Given the description of an element on the screen output the (x, y) to click on. 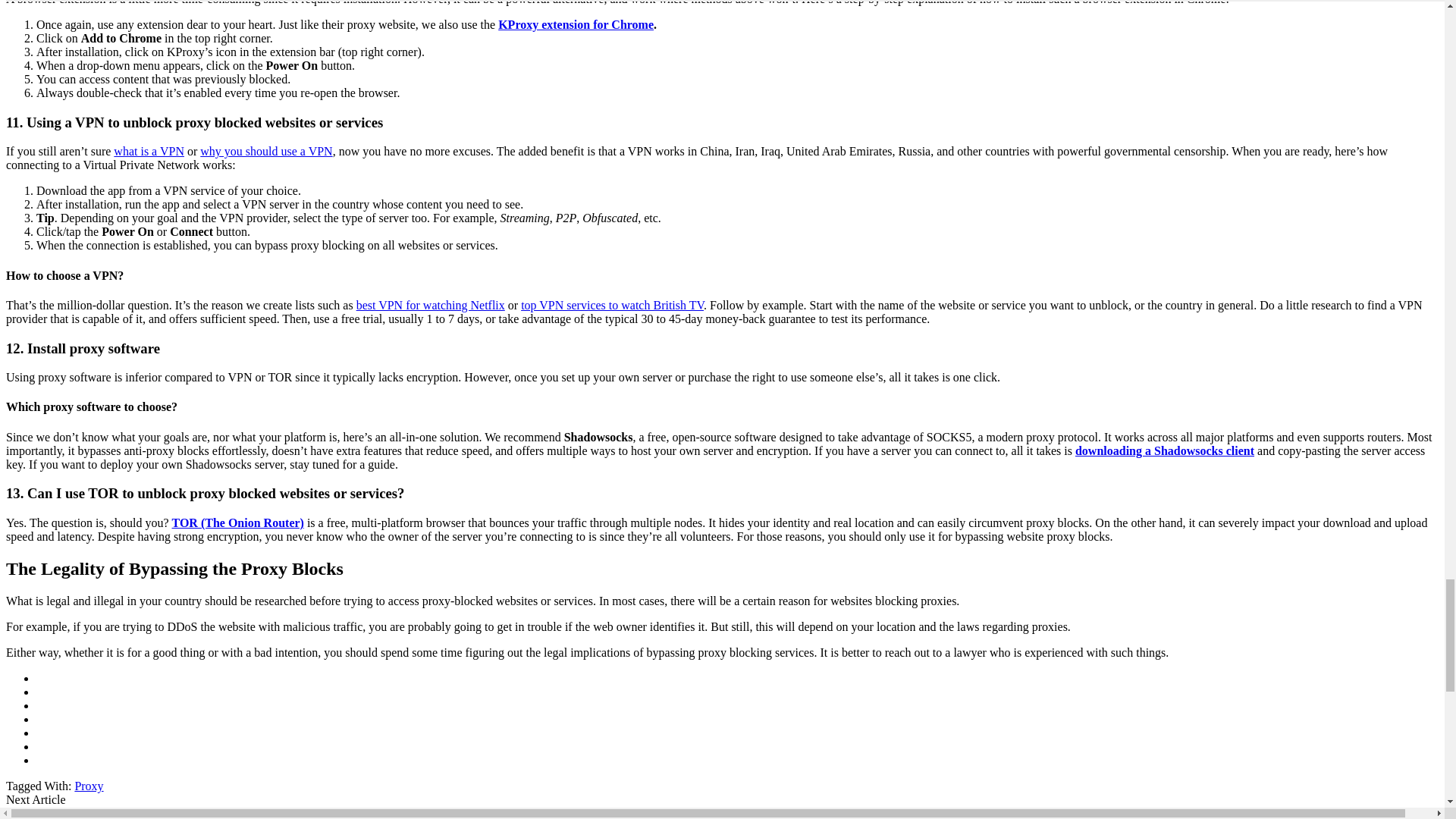
why you should use a VPN (265, 151)
best VPN for watching Netflix (430, 305)
KProxy extension for Chrome (575, 24)
downloading a Shadowsocks client (1164, 450)
what is a VPN (148, 151)
top VPN services to watch British TV (612, 305)
